Given the description of an element on the screen output the (x, y) to click on. 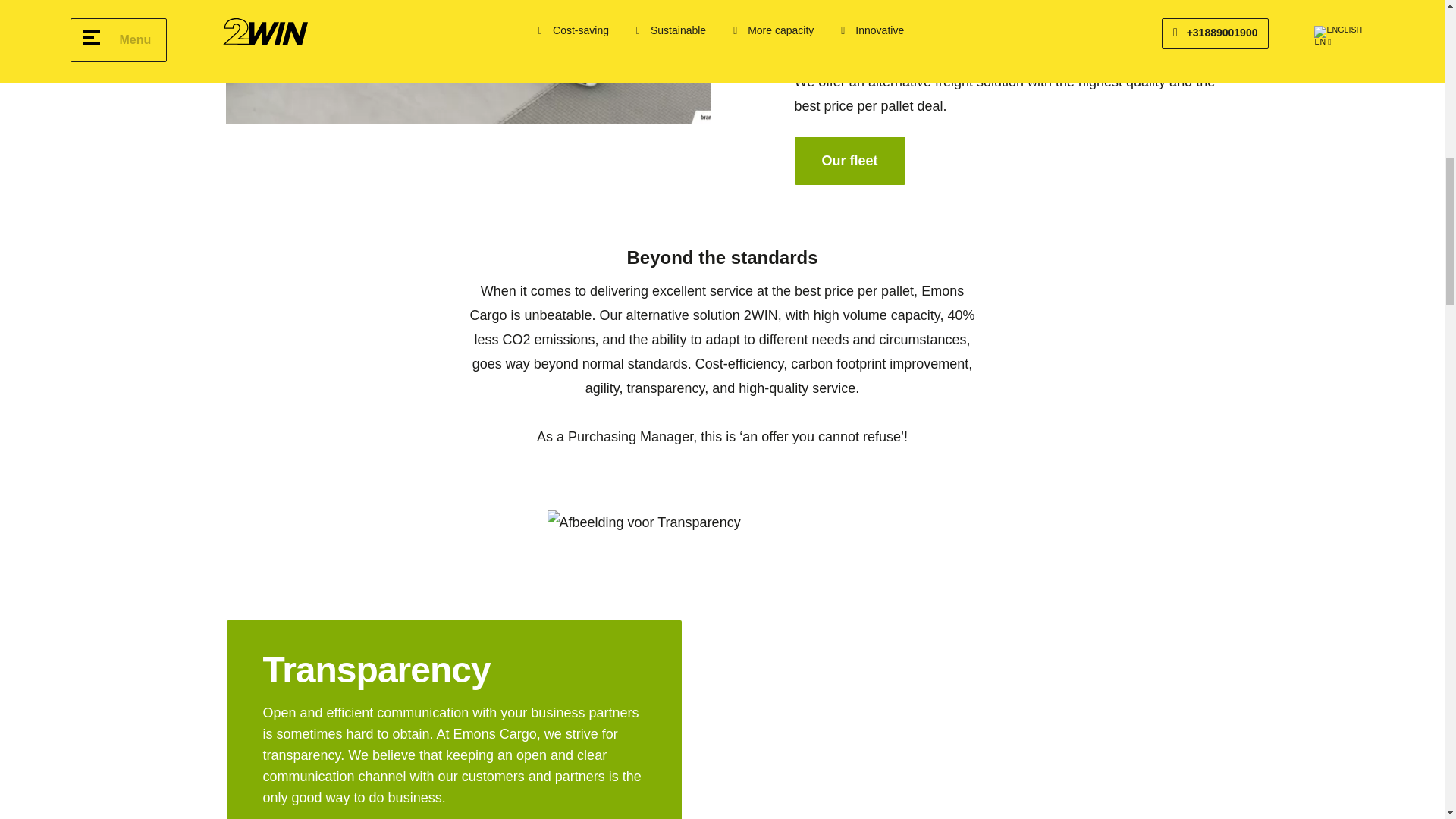
Our fleet (849, 160)
